Given the description of an element on the screen output the (x, y) to click on. 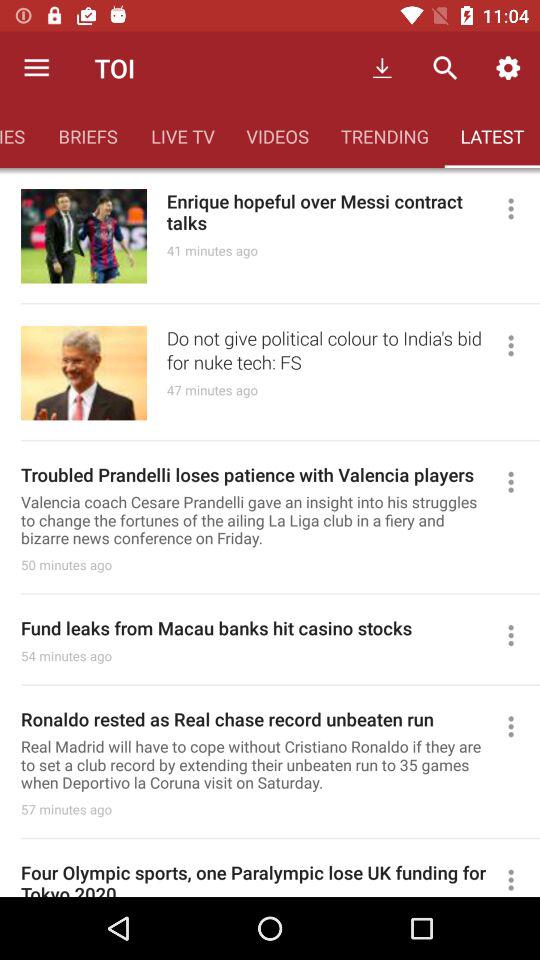
open article options (519, 345)
